Given the description of an element on the screen output the (x, y) to click on. 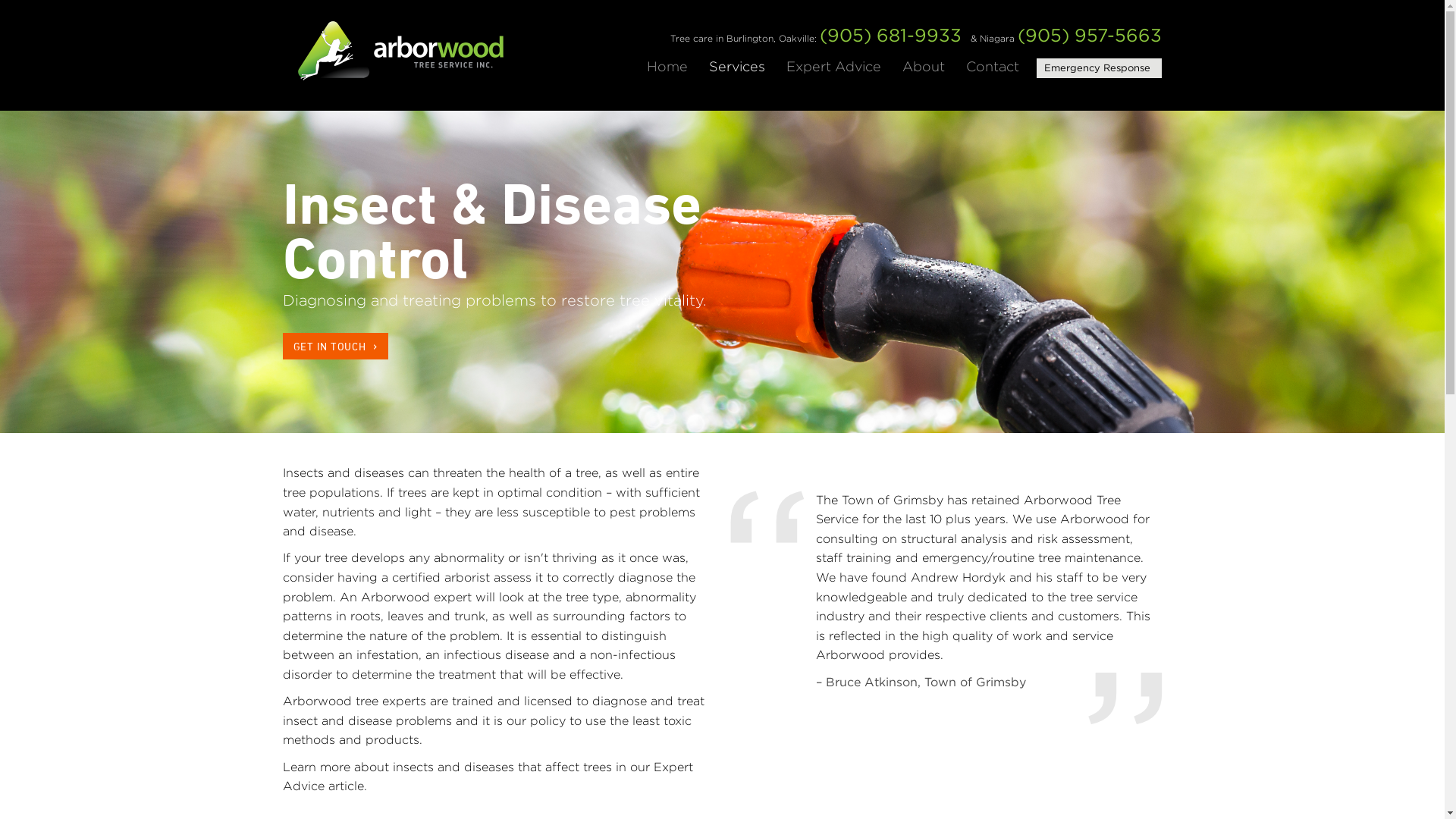
(905) 681-9933 Element type: text (890, 35)
(905) 957-5663 Element type: text (1089, 35)
Services Element type: text (737, 66)
Contact Element type: text (992, 66)
About Element type: text (923, 66)
Emergency Response Element type: text (1096, 68)
GET IN TOUCH Element type: text (334, 345)
Home Element type: text (666, 66)
Expert Advice Element type: text (833, 66)
